Given the description of an element on the screen output the (x, y) to click on. 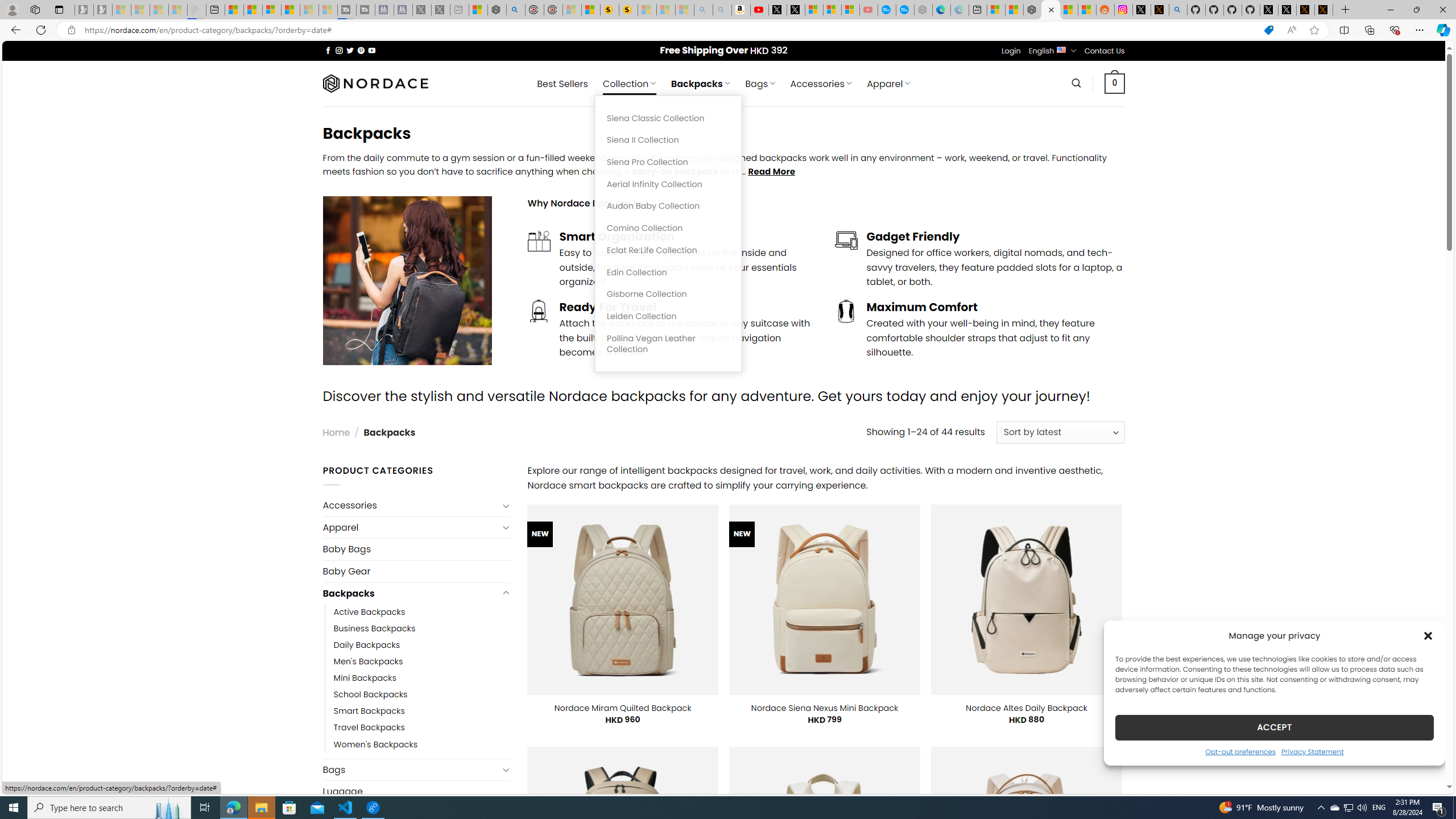
Mini Backpacks (422, 678)
Smart Backpacks (422, 710)
Bags (410, 769)
Edin Collection (668, 272)
Back (13, 29)
amazon - Search - Sleeping (702, 9)
Collections (1369, 29)
Shanghai, China Weather trends | Microsoft Weather (1086, 9)
Day 1: Arriving in Yemen (surreal to be here) - YouTube (759, 9)
GitHub (@github) / X (1287, 9)
Add this page to favorites (Ctrl+D) (1314, 29)
Eclat Re:Life Collection (668, 250)
